Given the description of an element on the screen output the (x, y) to click on. 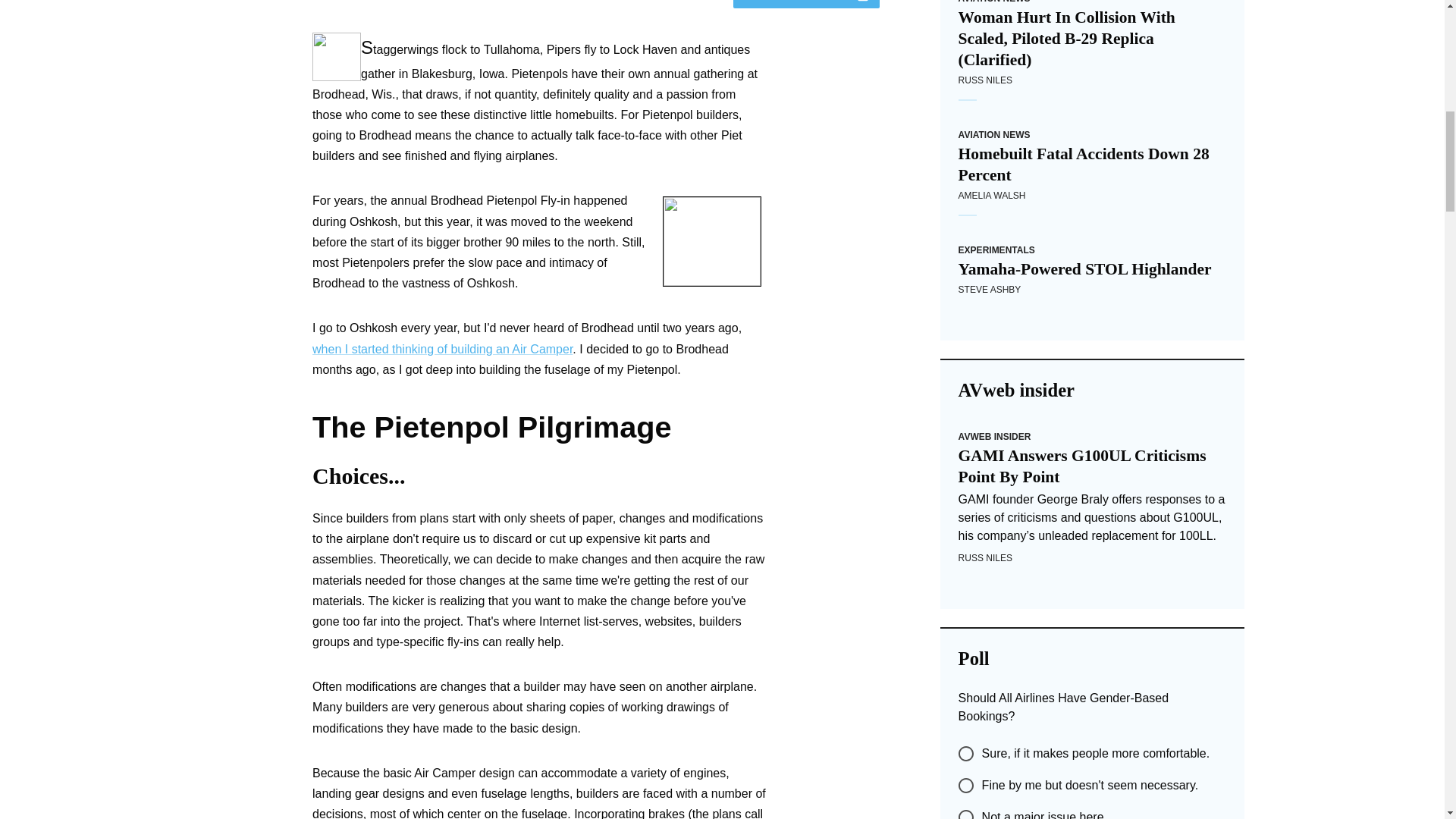
AVIATION NEWS (994, 134)
RUSS NILES (984, 80)
Yamaha-Powered STOL Highlander (1091, 269)
STEVE ASHBY (990, 289)
AMELIA WALSH (992, 195)
SHARE THIS STORY (806, 4)
when I started thinking of building an Air Camper (442, 349)
EXPERIMENTALS (996, 249)
AVIATION NEWS (994, 2)
Homebuilt Fatal Accidents Down 28 Percent (1091, 164)
